Given the description of an element on the screen output the (x, y) to click on. 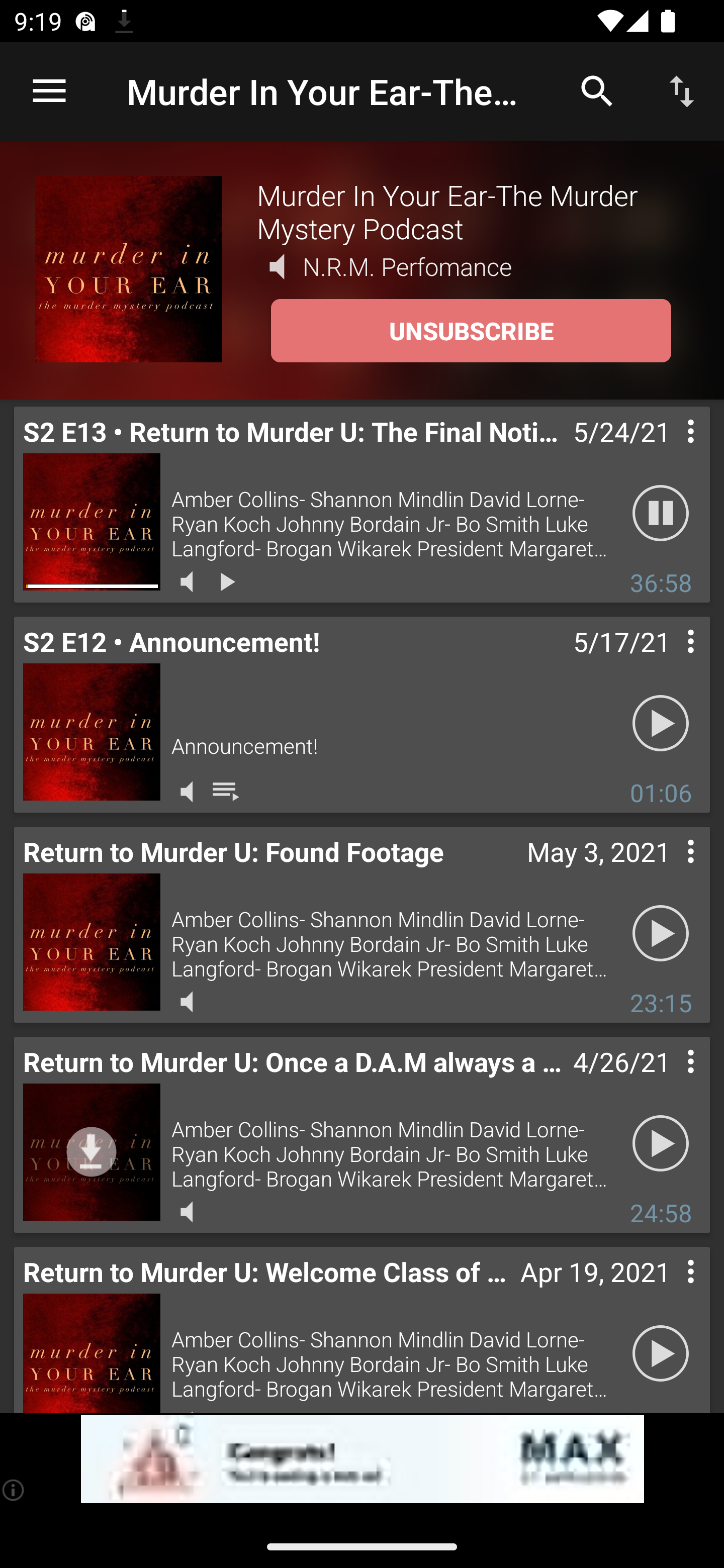
Open navigation sidebar (49, 91)
Search (597, 90)
Sort (681, 90)
UNSUBSCRIBE (470, 330)
Contextual menu (668, 451)
Pause (660, 513)
Contextual menu (668, 661)
Play (660, 723)
Contextual menu (668, 870)
Play (660, 933)
Contextual menu (668, 1080)
Play (660, 1143)
Contextual menu (668, 1290)
Play (660, 1353)
app-monetization (362, 1459)
(i) (14, 1489)
